Given the description of an element on the screen output the (x, y) to click on. 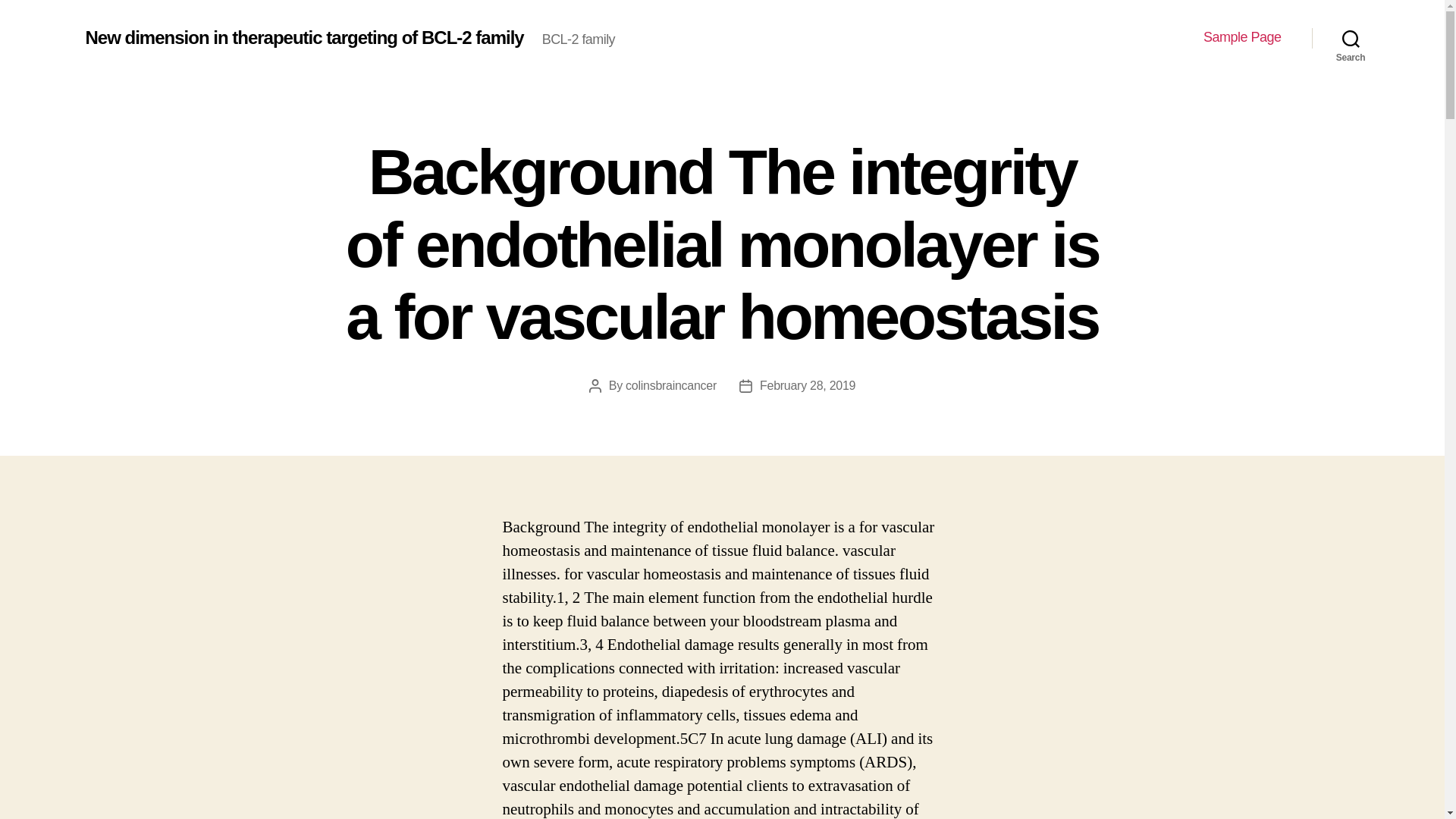
Search (1350, 37)
Sample Page (1242, 37)
colinsbraincancer (671, 385)
New dimension in therapeutic targeting of BCL-2 family (303, 37)
February 28, 2019 (808, 385)
